Given the description of an element on the screen output the (x, y) to click on. 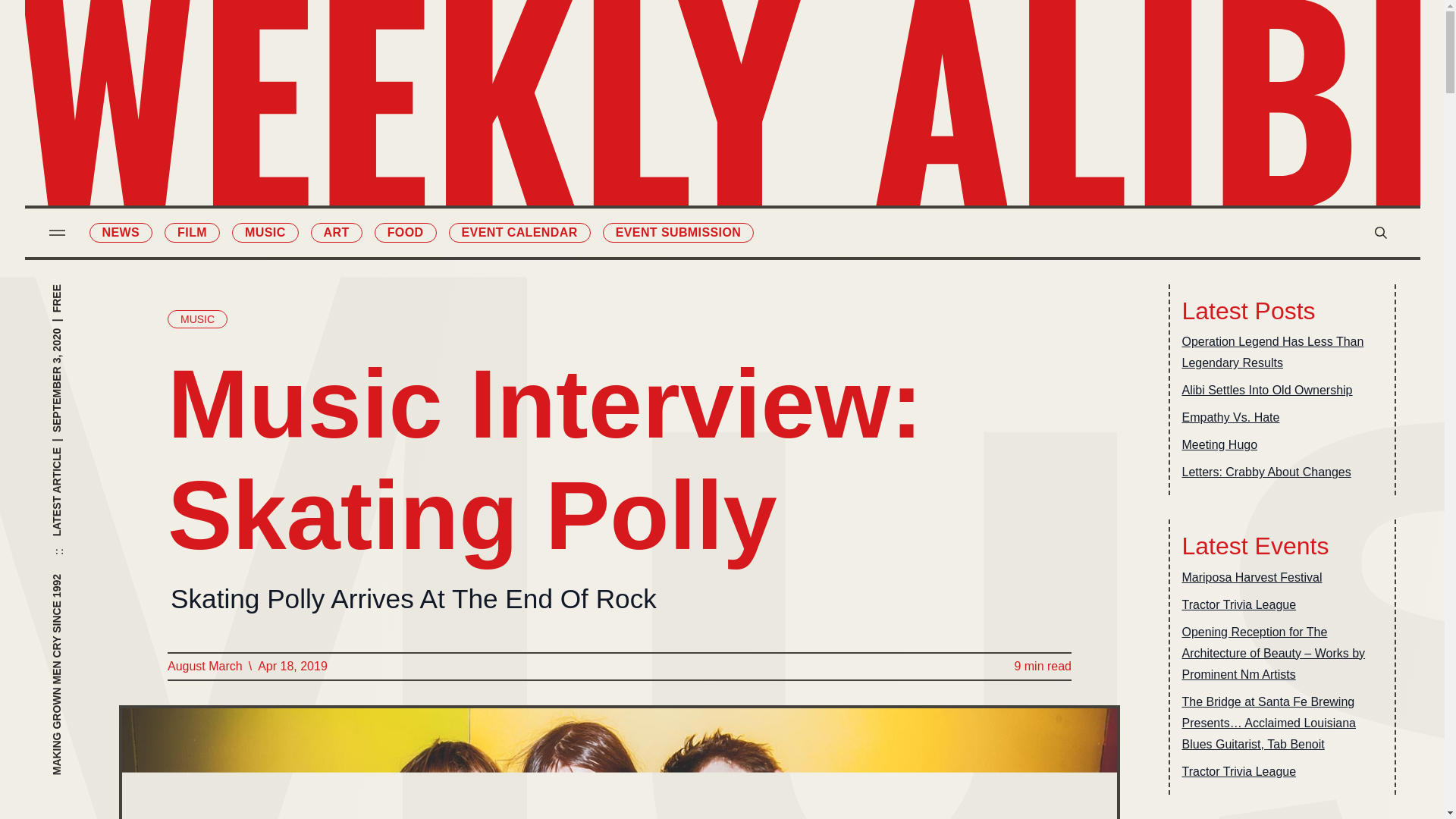
MUSIC (264, 232)
FILM (191, 232)
NEWS (120, 232)
ART (336, 232)
MUSIC (197, 319)
FOOD (405, 232)
August March (204, 666)
EVENT CALENDAR (519, 232)
EVENT SUBMISSION (678, 232)
